Given the description of an element on the screen output the (x, y) to click on. 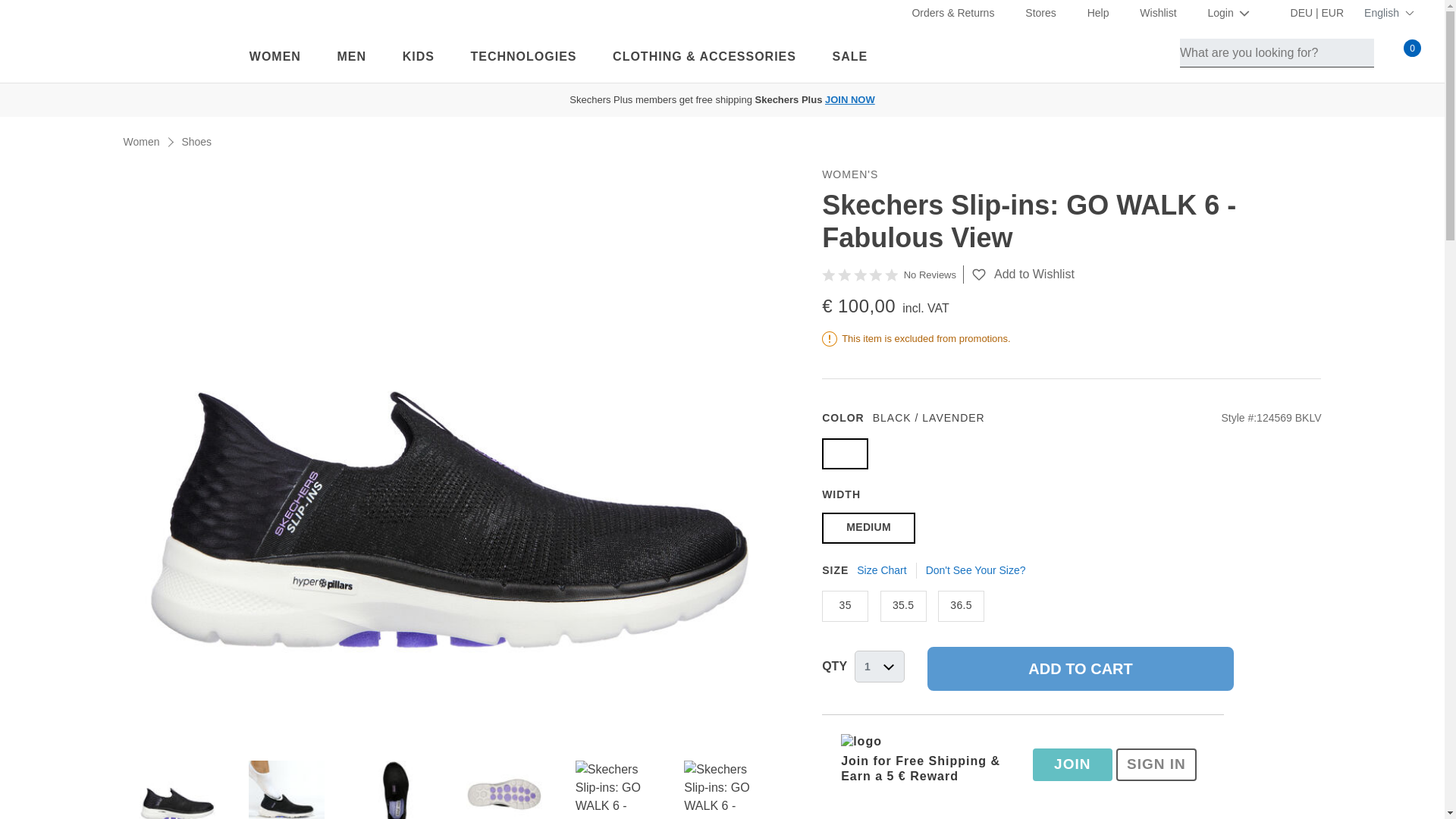
Stores (1032, 12)
English (1386, 13)
Locate Stores (1032, 12)
Wishlist (1150, 12)
Skechers Home (124, 53)
Help (1090, 12)
WOMEN (274, 55)
Login (1222, 12)
